Given the description of an element on the screen output the (x, y) to click on. 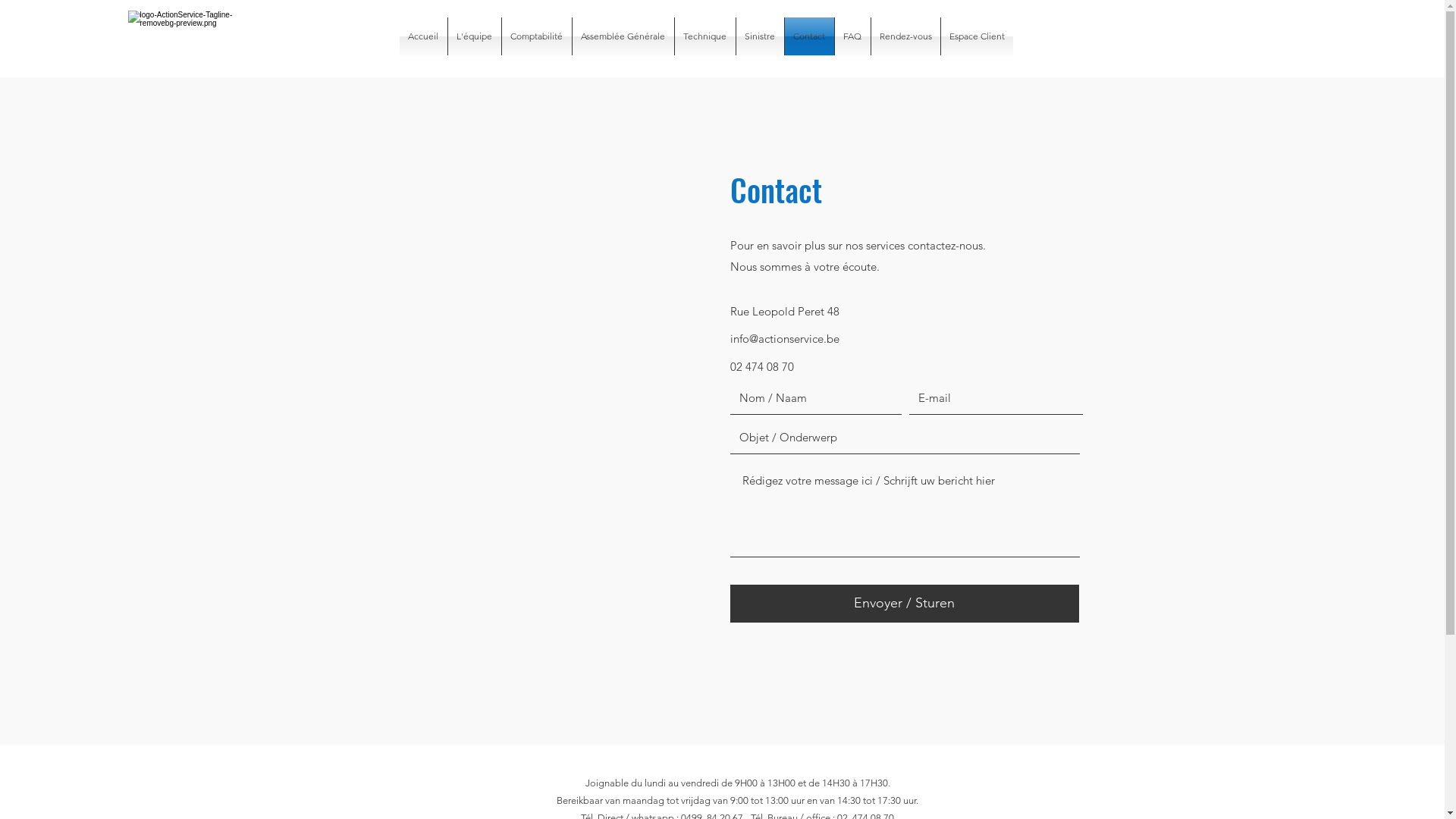
Envoyer / Sturen Element type: text (903, 603)
Technique Element type: text (704, 36)
Sinistre Element type: text (759, 36)
FAQ Element type: text (851, 36)
Accueil Element type: text (422, 36)
info@actionservice.be Element type: text (783, 338)
Contact Element type: text (808, 36)
Rendez-vous Element type: text (904, 36)
Espace Client Element type: text (976, 36)
